Given the description of an element on the screen output the (x, y) to click on. 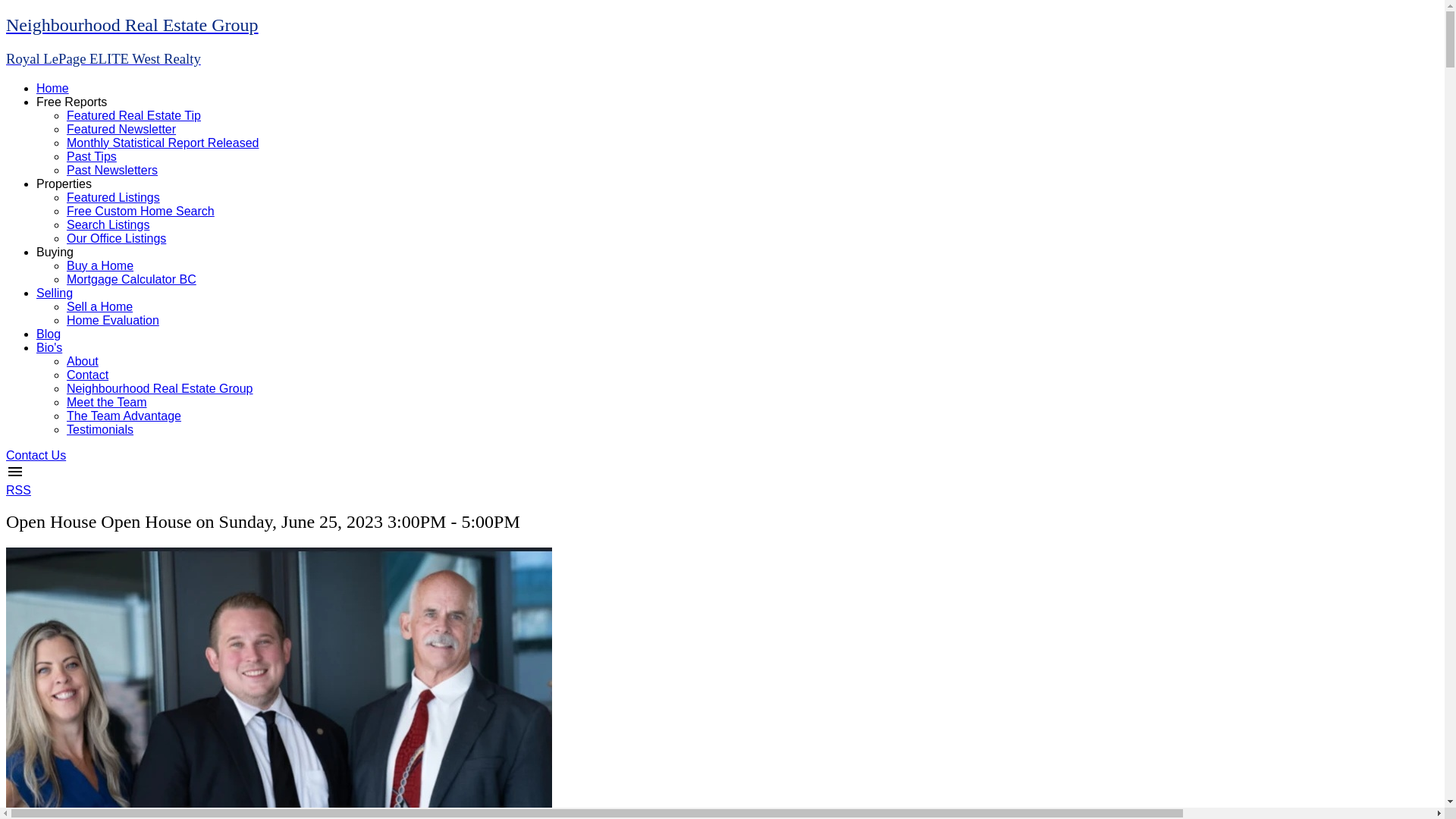
Monthly Statistical Report Released (162, 142)
Featured Newsletter (121, 128)
The Team Advantage (123, 415)
Blog (48, 333)
Bio's (49, 347)
Contact Us (35, 454)
Home (52, 88)
Buy a Home (99, 265)
Testimonials (99, 429)
Contact (86, 374)
